Given the description of an element on the screen output the (x, y) to click on. 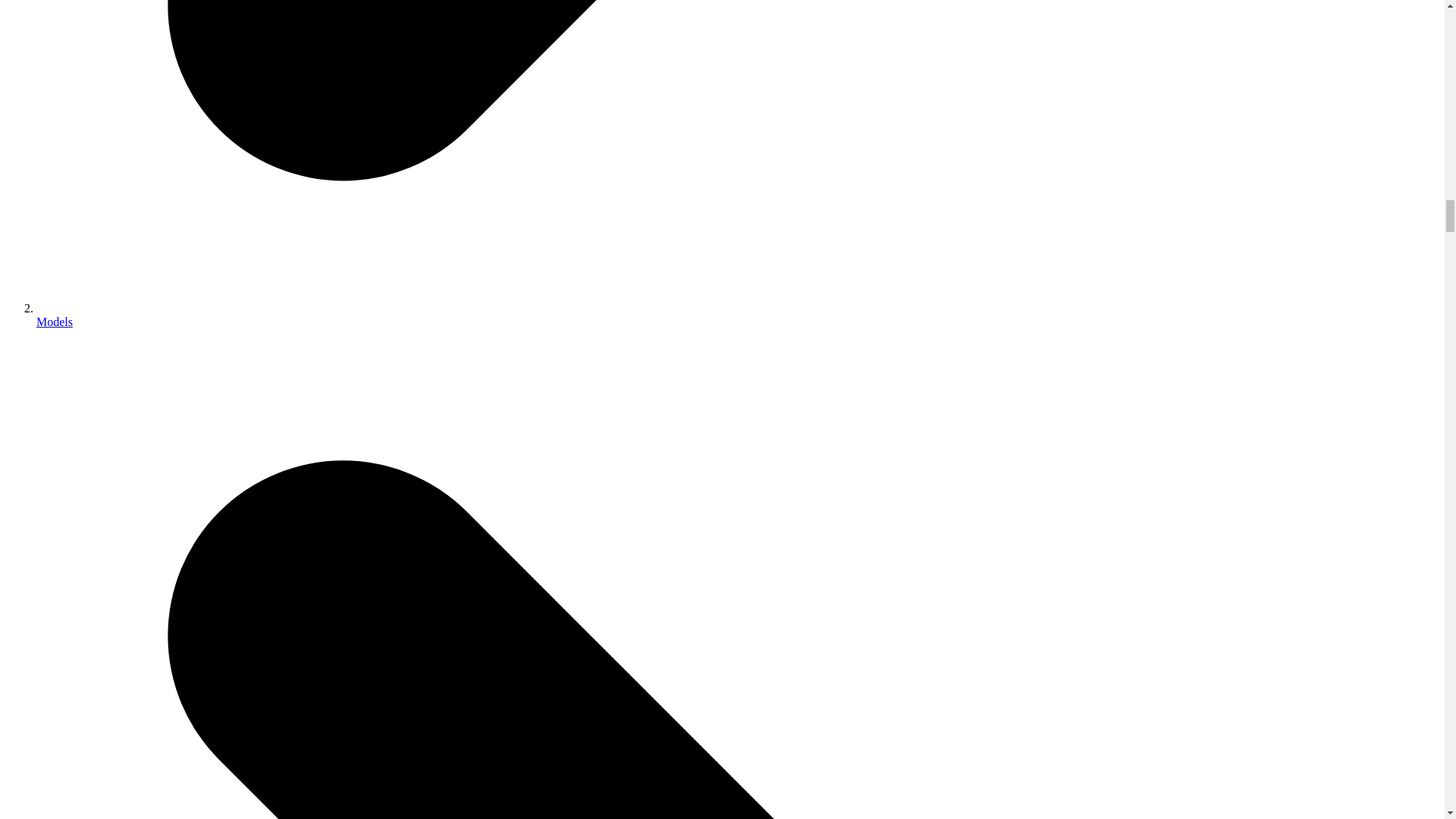
Models (54, 321)
